Given the description of an element on the screen output the (x, y) to click on. 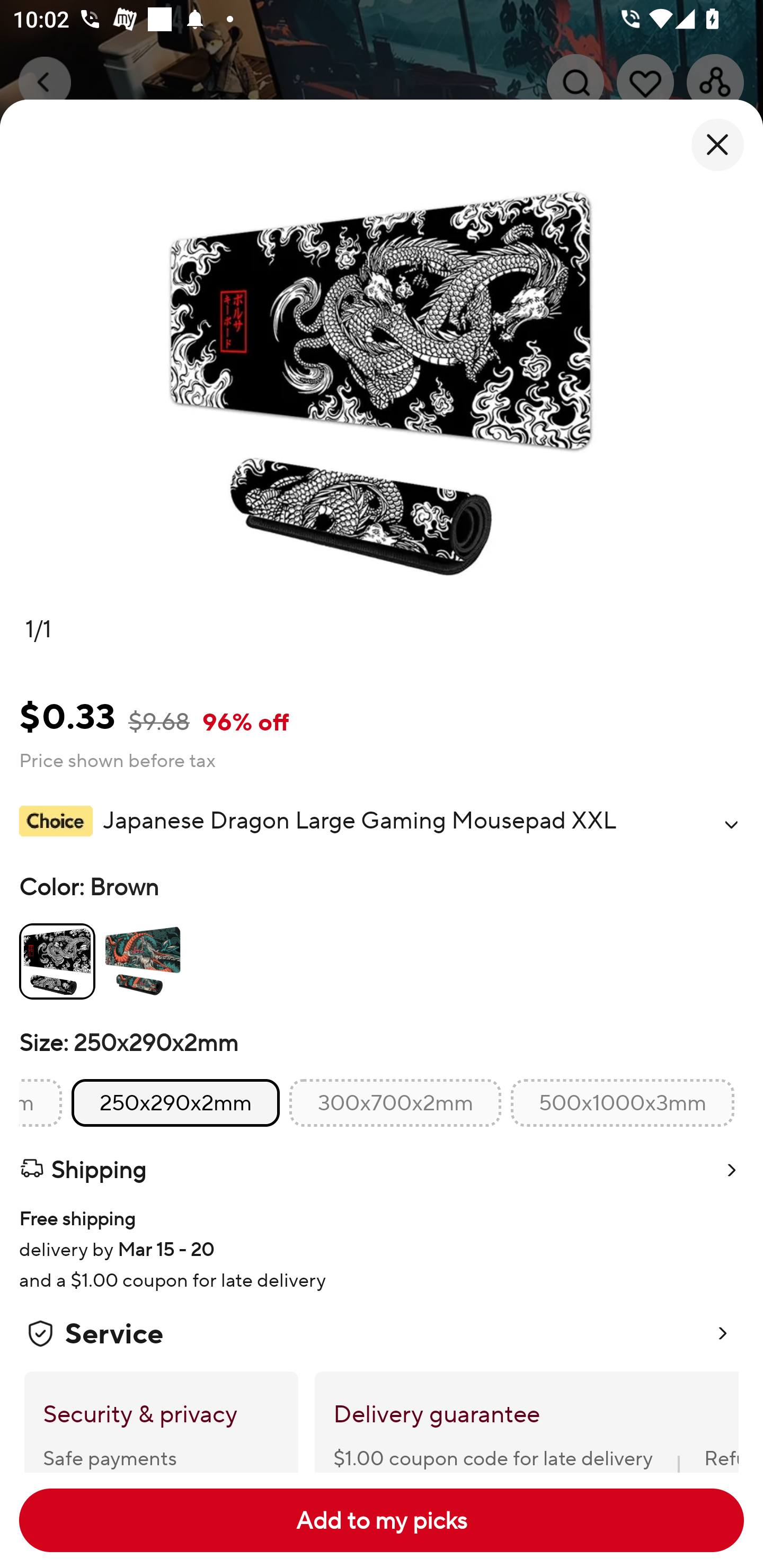
close  (717, 144)
 (730, 824)
250x290x2mm (175, 1102)
300x700x2mm (395, 1102)
500x1000x3mm (622, 1102)
Add to my picks (381, 1520)
